Given the description of an element on the screen output the (x, y) to click on. 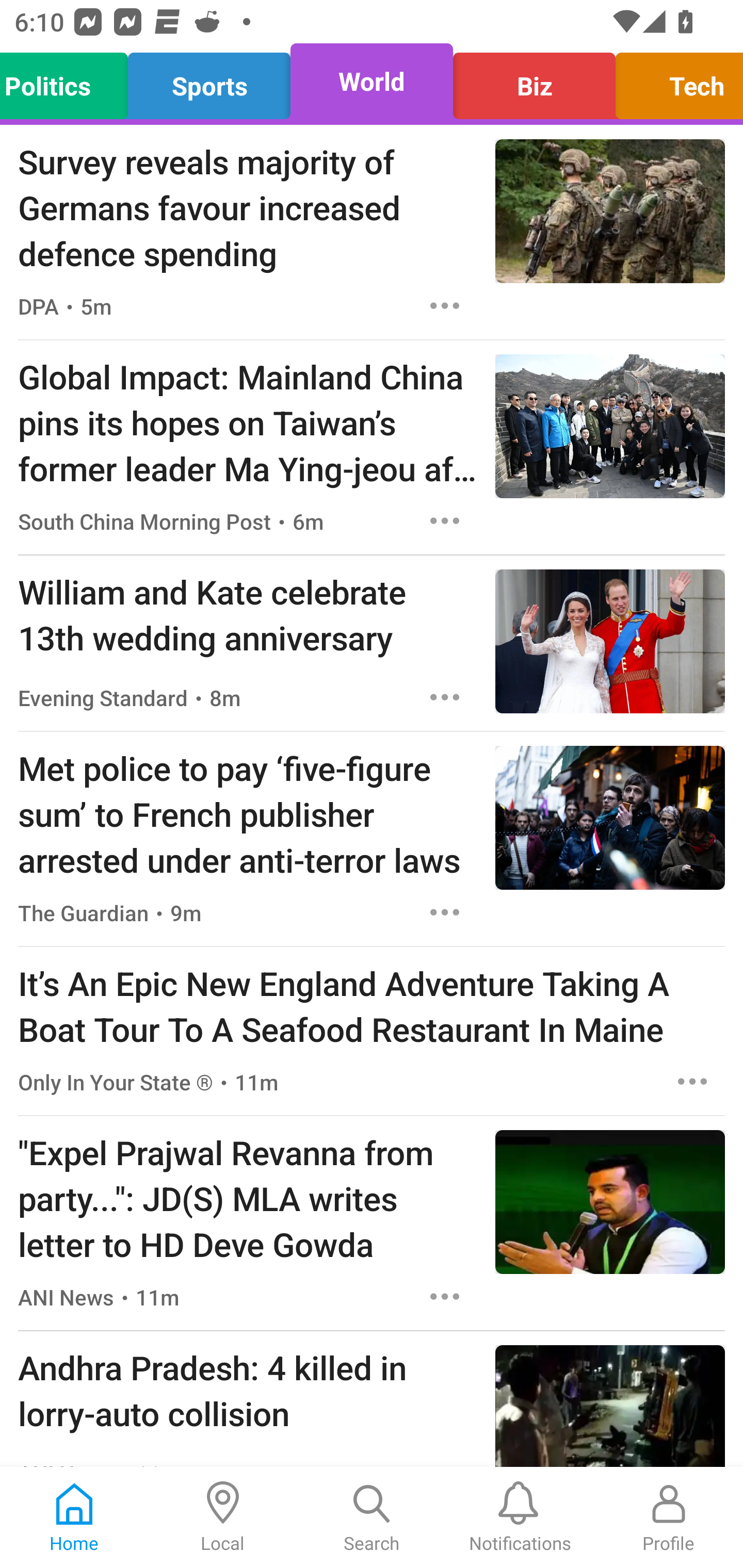
Politics (69, 81)
Sports (209, 81)
World (371, 81)
Biz (534, 81)
Tech (673, 81)
Options (444, 305)
Options (444, 520)
Options (444, 697)
Options (444, 912)
Options (692, 1081)
Options (444, 1296)
Local (222, 1517)
Search (371, 1517)
Notifications (519, 1517)
Profile (668, 1517)
